Given the description of an element on the screen output the (x, y) to click on. 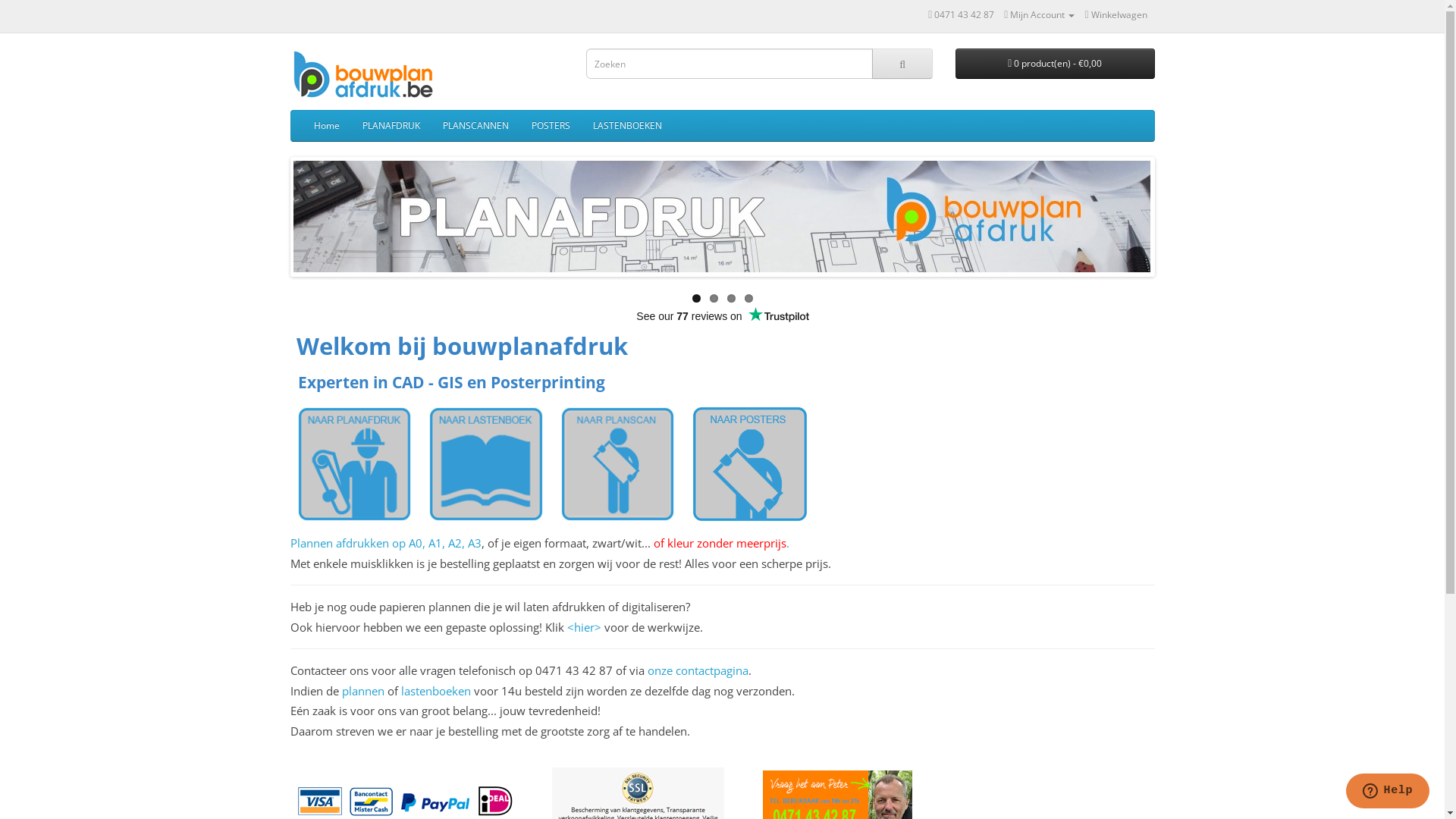
Opens a widget where you can chat to one of our agents Element type: hover (1387, 792)
LASTENBOEKEN Element type: text (626, 125)
onze contactpagina Element type: text (697, 669)
PLANAFDRUK Element type: text (390, 125)
plannen of Element type: text (370, 690)
Mijn Account Element type: text (1039, 14)
Winkelwagen Element type: text (1115, 14)
POSTERS Element type: text (550, 125)
BouwplanAfdruk Element type: hover (368, 75)
n op A0, A1, A2, A3 Element type: text (431, 542)
kke Element type: text (373, 542)
Plannen afdru Element type: text (326, 542)
PLANSCANNEN Element type: text (474, 125)
Home Element type: text (325, 125)
Customer reviews powered by Trustpilot Element type: hover (721, 316)
<hier> Element type: text (584, 626)
lastenboeken Element type: text (435, 690)
. Element type: text (786, 542)
